Given the description of an element on the screen output the (x, y) to click on. 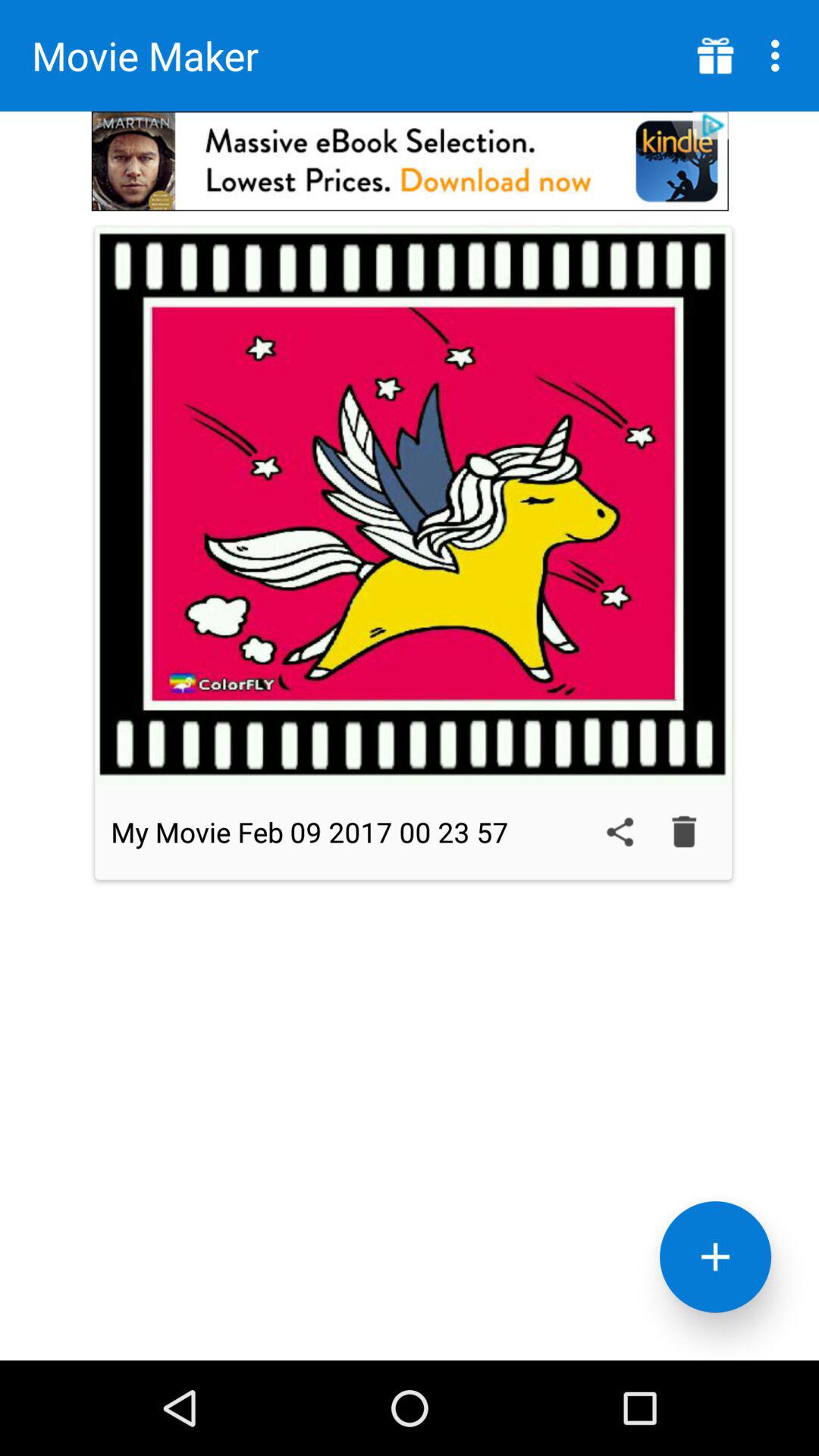
add selection (715, 1256)
